Given the description of an element on the screen output the (x, y) to click on. 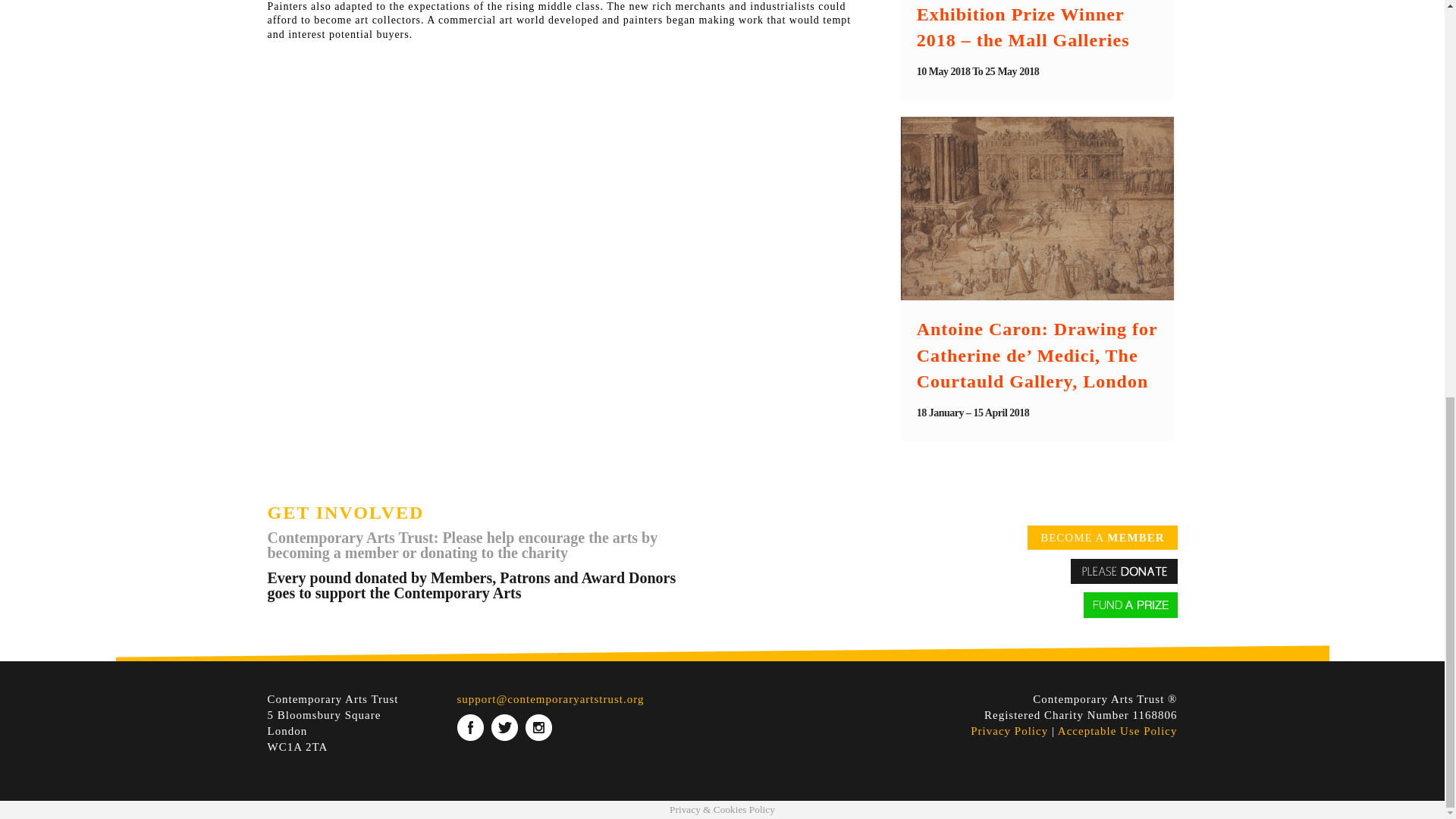
Instagram (538, 727)
Twitter (505, 727)
BECOME A MEMBER (1101, 537)
Facebook (470, 727)
